Given the description of an element on the screen output the (x, y) to click on. 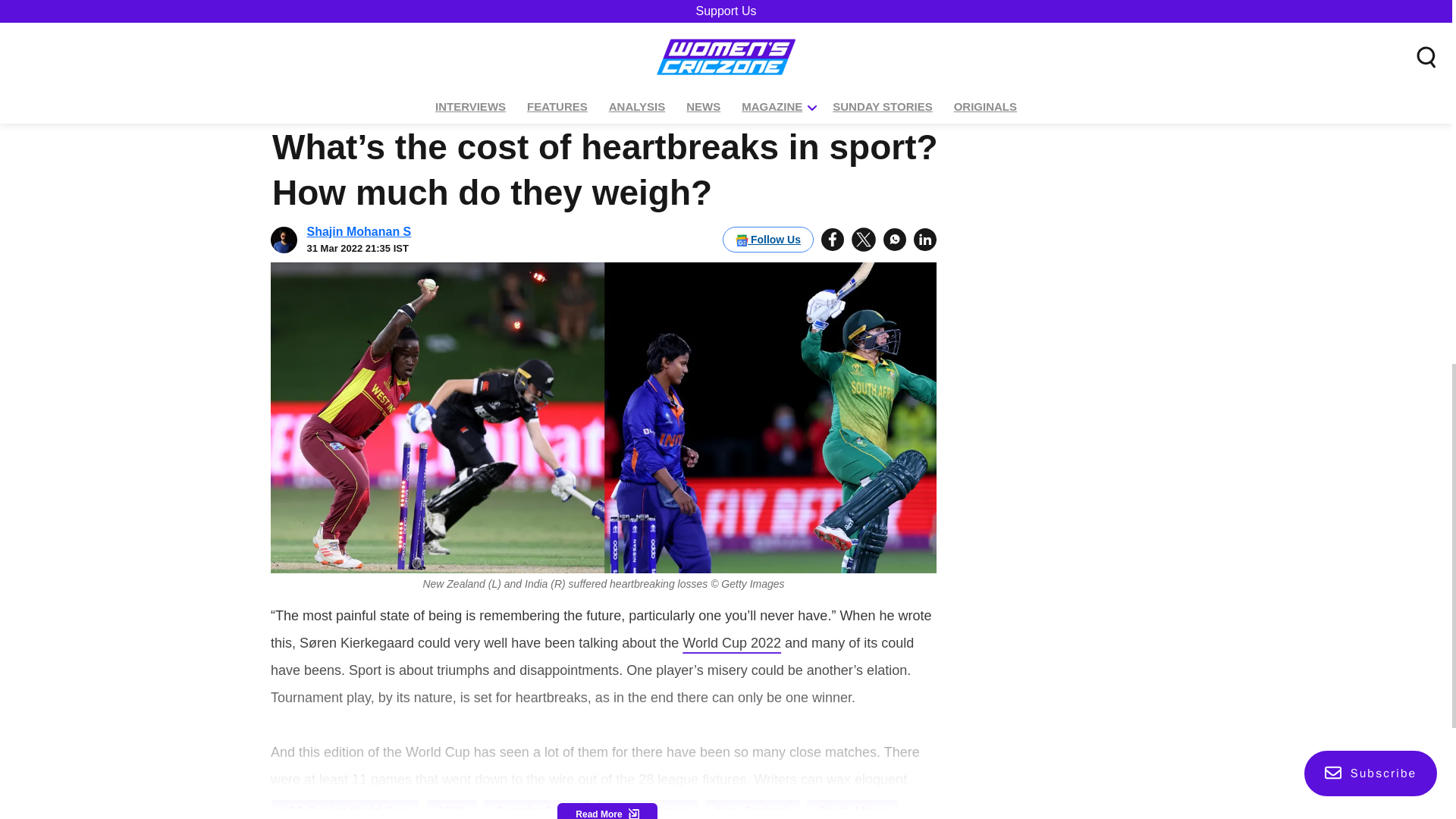
Diana Baig (402, 6)
Nadine de Klerk (622, 6)
Nida Dar (720, 6)
Black Day ODI (814, 6)
Shabnim Ismail (504, 6)
Sune Luus (311, 6)
